Given the description of an element on the screen output the (x, y) to click on. 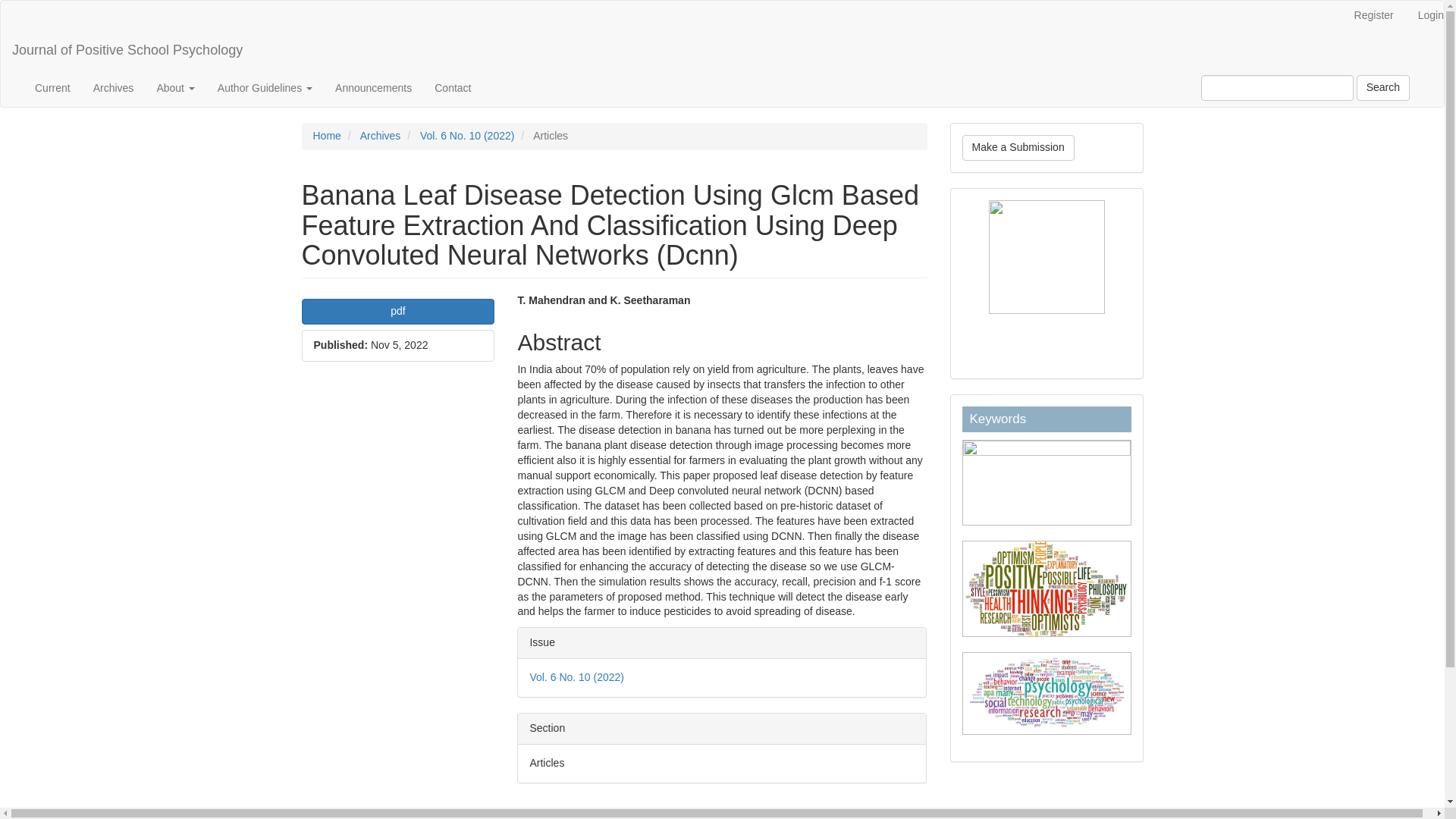
Contact (452, 87)
Current (52, 87)
Archives (113, 87)
pdf (398, 311)
Register (1373, 15)
Announcements (373, 87)
Make a Submission (1017, 147)
Archives (380, 135)
About (174, 87)
Journal of Positive School Psychology (127, 49)
Search (1382, 87)
Author Guidelines (264, 87)
Home (326, 135)
